Given the description of an element on the screen output the (x, y) to click on. 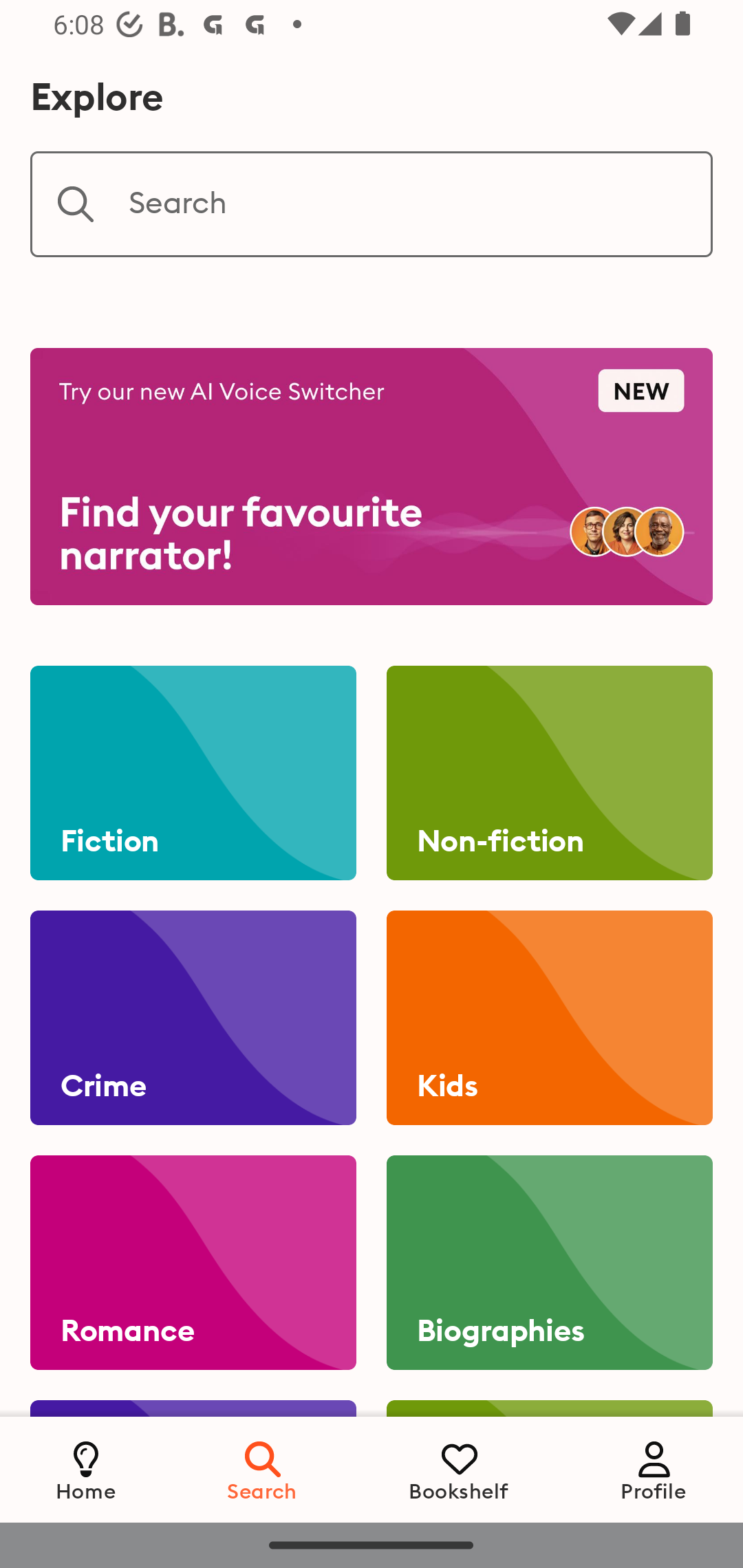
Search (371, 203)
Fiction (193, 772)
Non-fiction (549, 772)
Crime (193, 1018)
Kids (549, 1018)
Romance (193, 1262)
Biographies (549, 1262)
Home (85, 1468)
Search (262, 1468)
Bookshelf (458, 1468)
Profile (653, 1468)
